Given the description of an element on the screen output the (x, y) to click on. 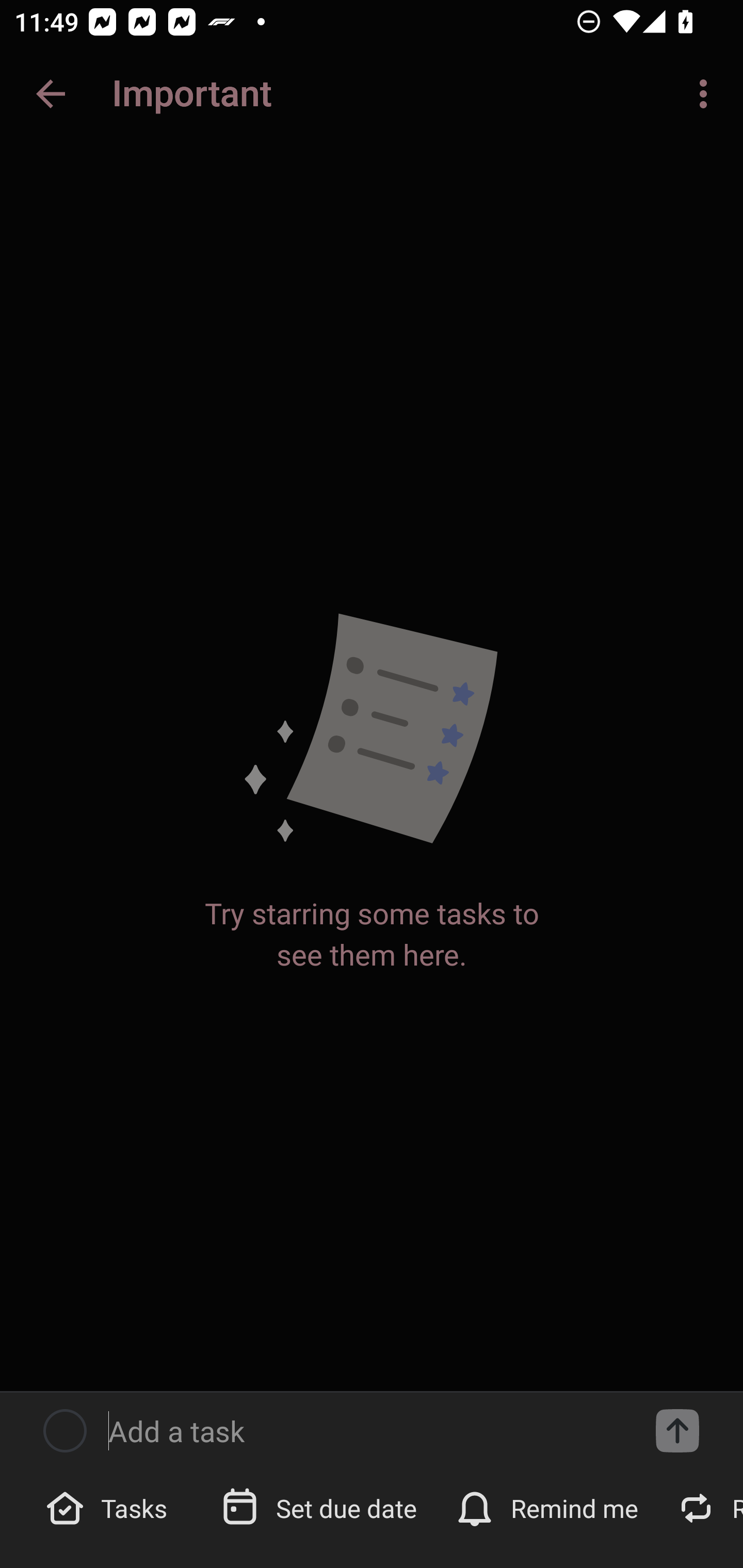
Back (50, 93)
More options (706, 93)
Add a task (676, 1430)
Add a task (366, 1430)
Tasks (108, 1507)
Set due date (321, 1507)
Remind me (548, 1507)
